Given the description of an element on the screen output the (x, y) to click on. 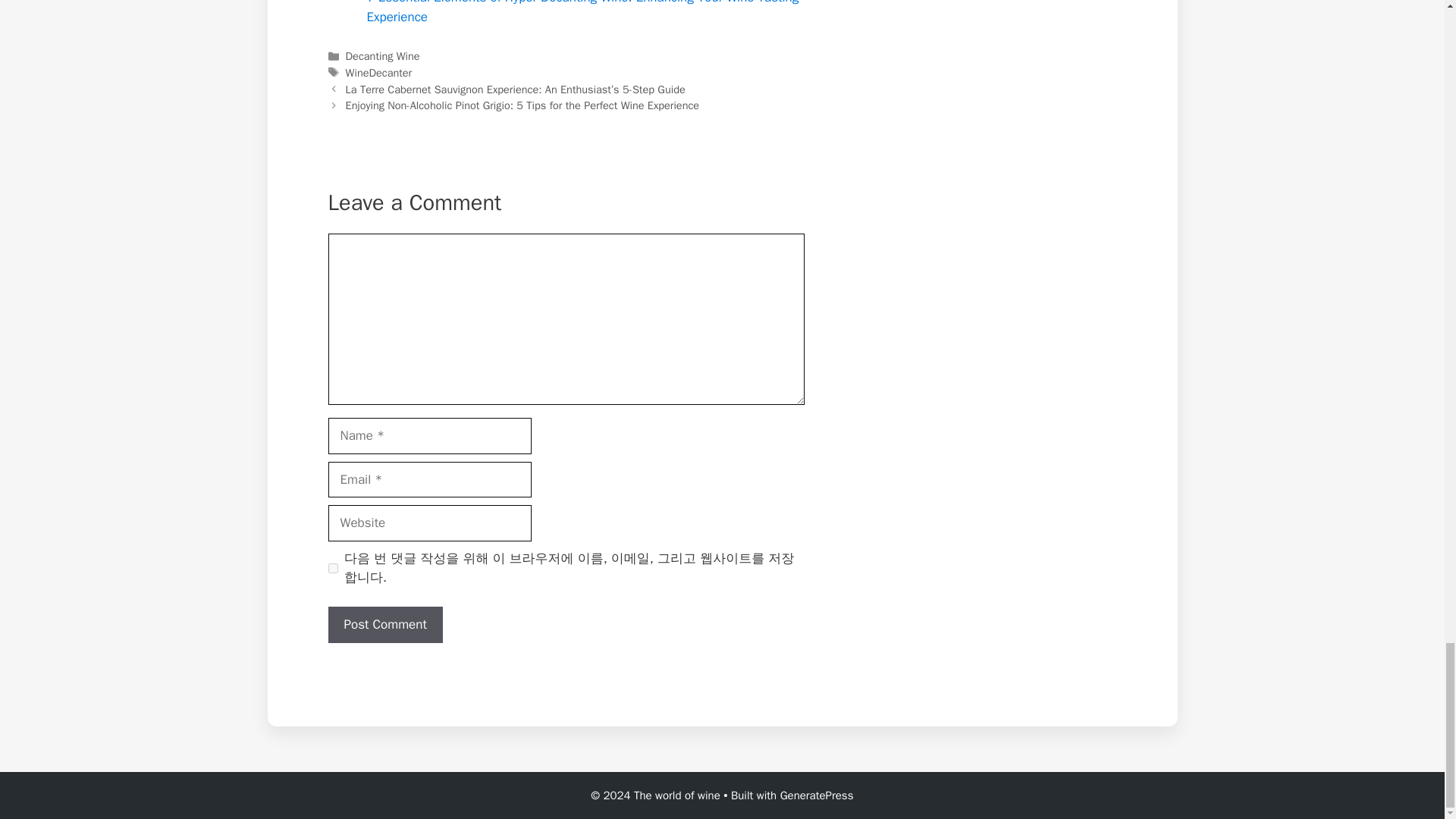
Decanting Wine (383, 56)
Post Comment (384, 624)
Post Comment (384, 624)
WineDecanter (379, 72)
yes (332, 568)
